Given the description of an element on the screen output the (x, y) to click on. 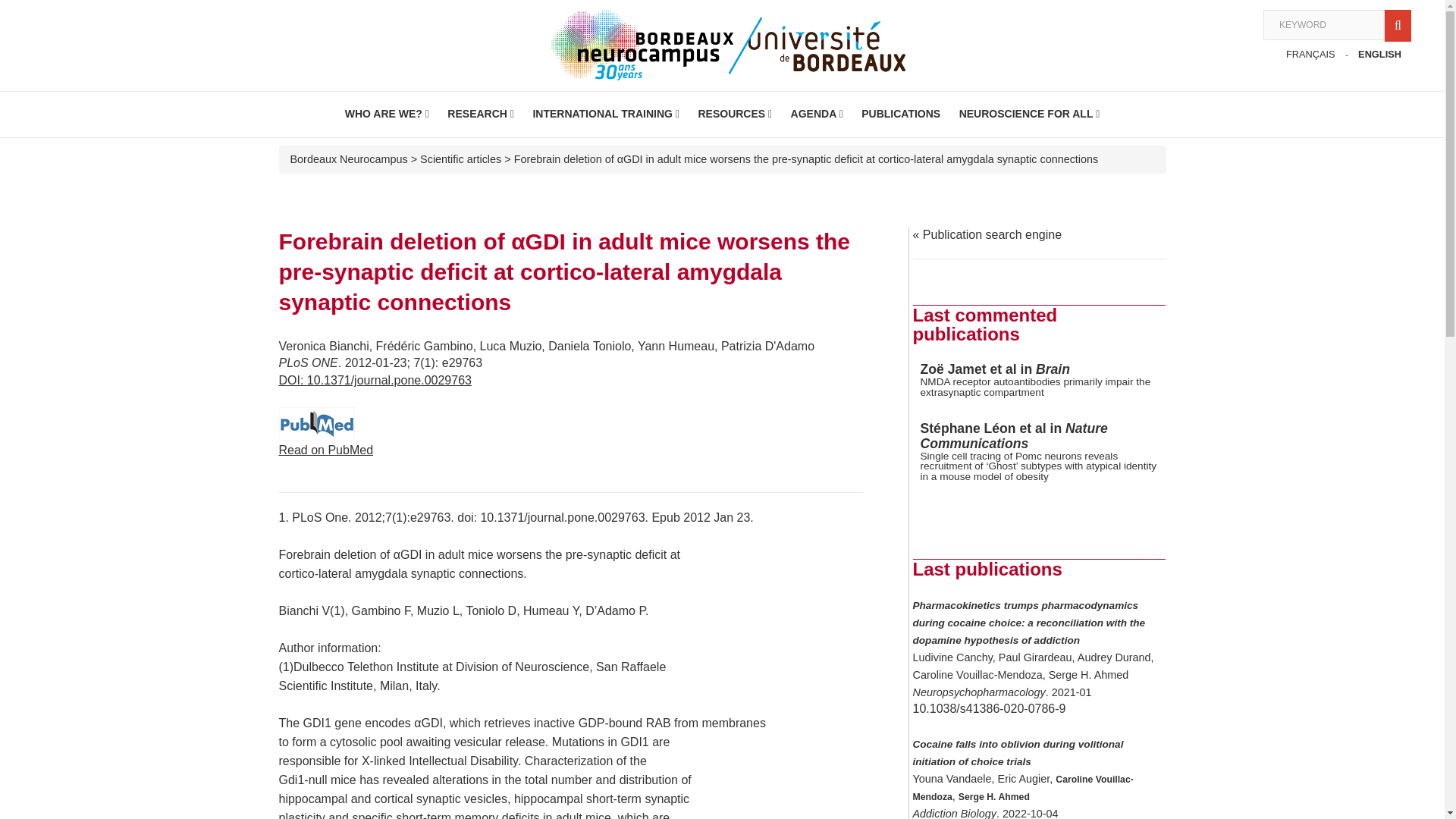
INTERNATIONAL TRAINING (605, 114)
WHO ARE WE? (387, 114)
Search (1399, 24)
Search (1399, 24)
RESEARCH (479, 114)
ENGLISH (1383, 54)
Who are we? (387, 114)
Search (1399, 24)
